Given the description of an element on the screen output the (x, y) to click on. 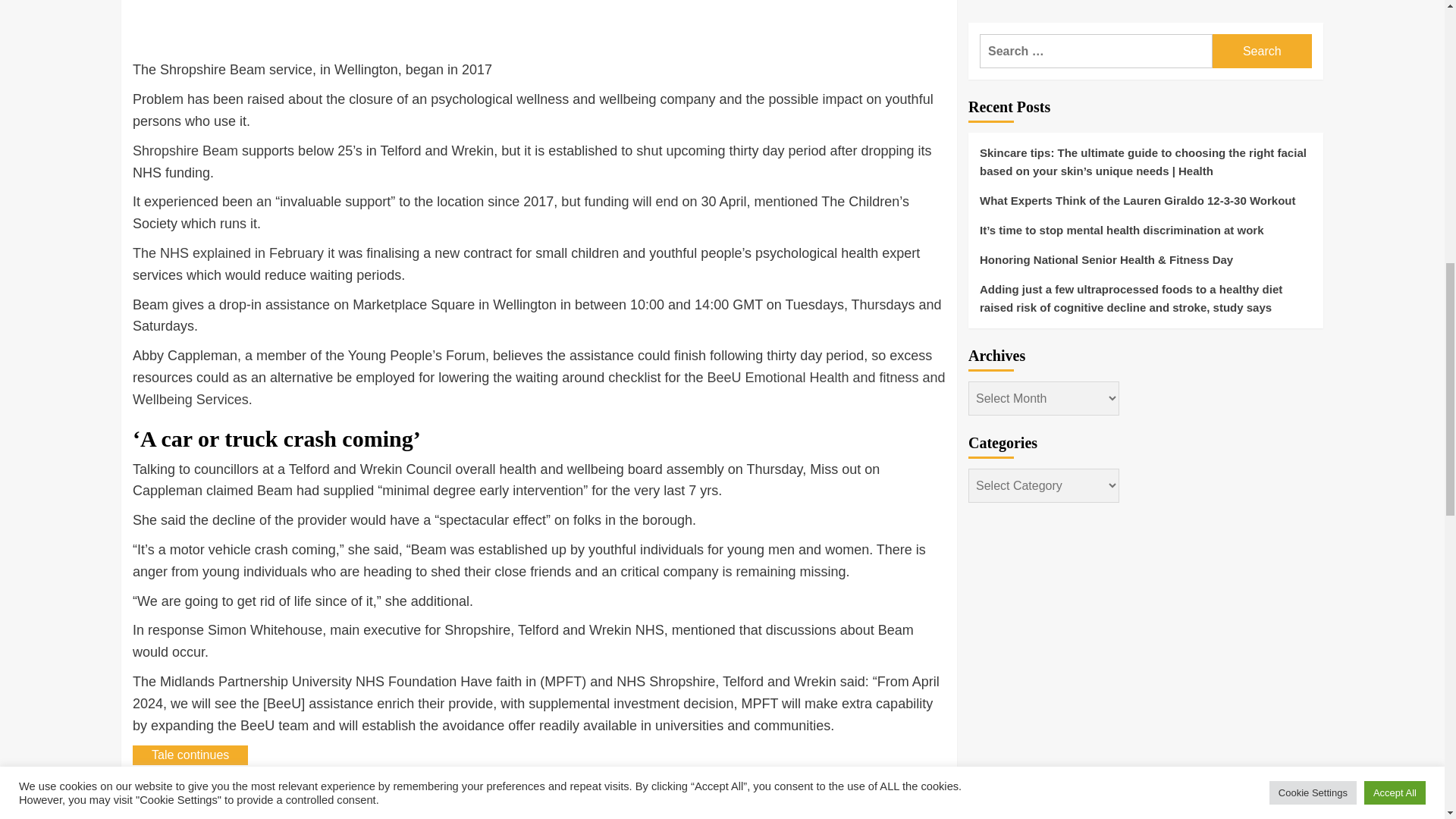
Shropshire Beam (185, 150)
BeeU Emotional Health and fitness and Wellbeing Services. (538, 388)
The NHS explained in February (227, 253)
Tale continues (189, 754)
